Given the description of an element on the screen output the (x, y) to click on. 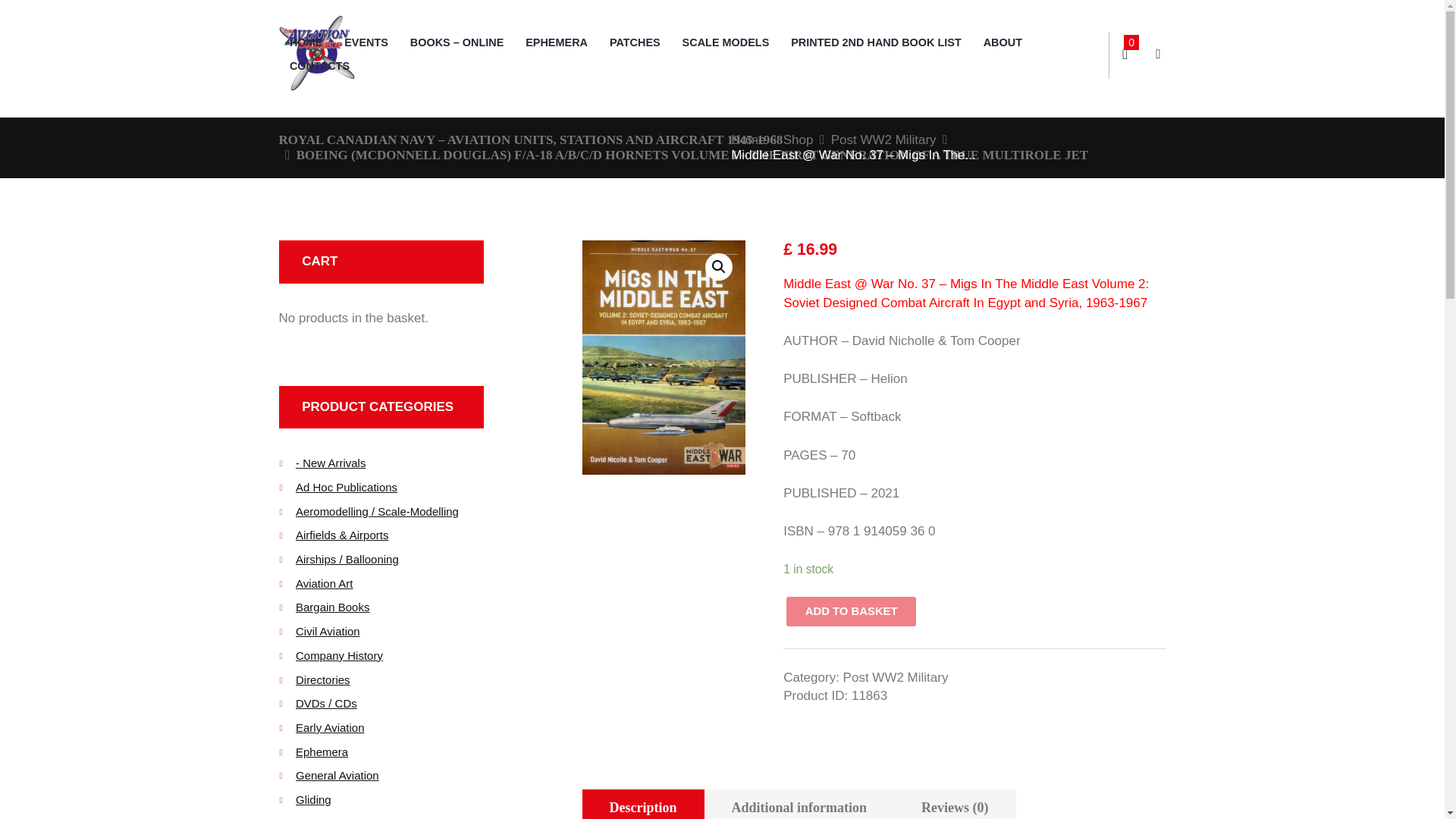
CONTACTS (319, 65)
Shop (798, 140)
EVENTS (365, 42)
HOME (305, 42)
PRINTED 2ND HAND BOOK LIST (875, 42)
EPHEMERA (556, 42)
Home (747, 140)
Post WW2 Military (883, 140)
ABOUT (1003, 42)
SCALE MODELS (726, 42)
PATCHES (635, 42)
